Given the description of an element on the screen output the (x, y) to click on. 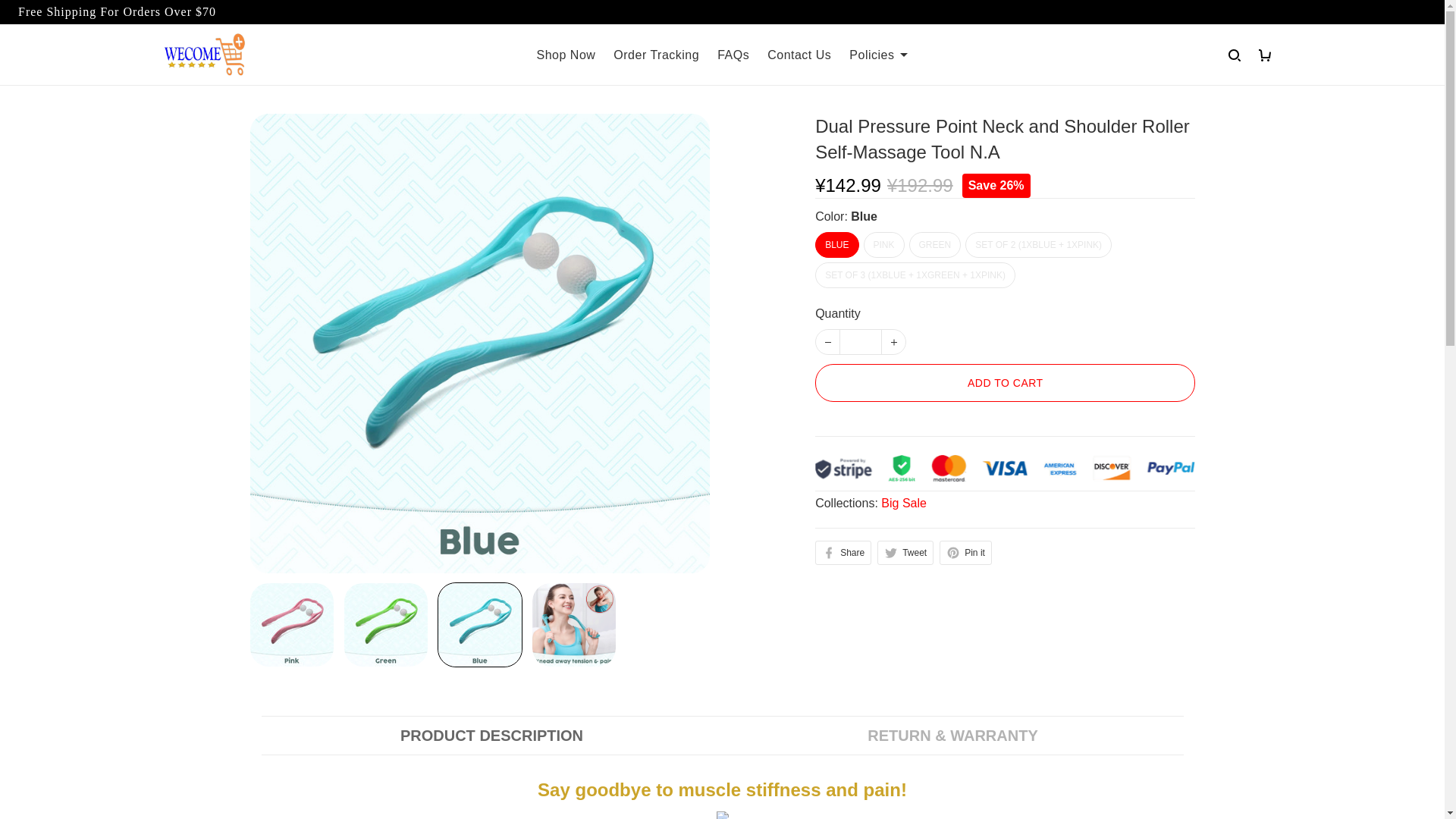
Share on Facebook (842, 552)
Share on Twitter (905, 552)
Big Sale (903, 502)
GREEN (934, 244)
ADD TO CART (1005, 382)
PRODUCT DESCRIPTION (491, 735)
Pin on Pinterest (965, 552)
Pin it (965, 552)
Order Tracking (655, 55)
FAQs (733, 55)
PINK (883, 244)
Shop Now (566, 55)
Policies (877, 55)
Share (842, 552)
BLUE (837, 244)
